Given the description of an element on the screen output the (x, y) to click on. 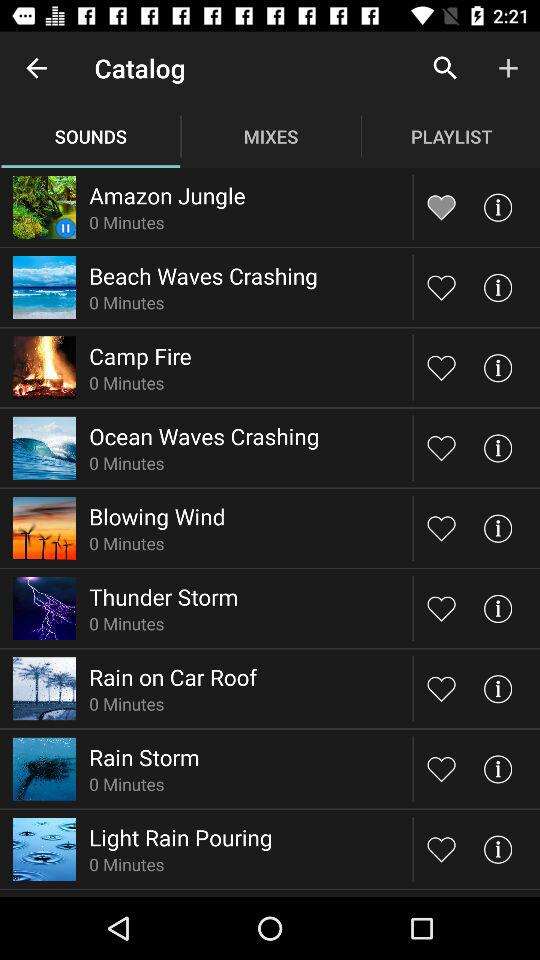
toggle favorite option (441, 447)
